Given the description of an element on the screen output the (x, y) to click on. 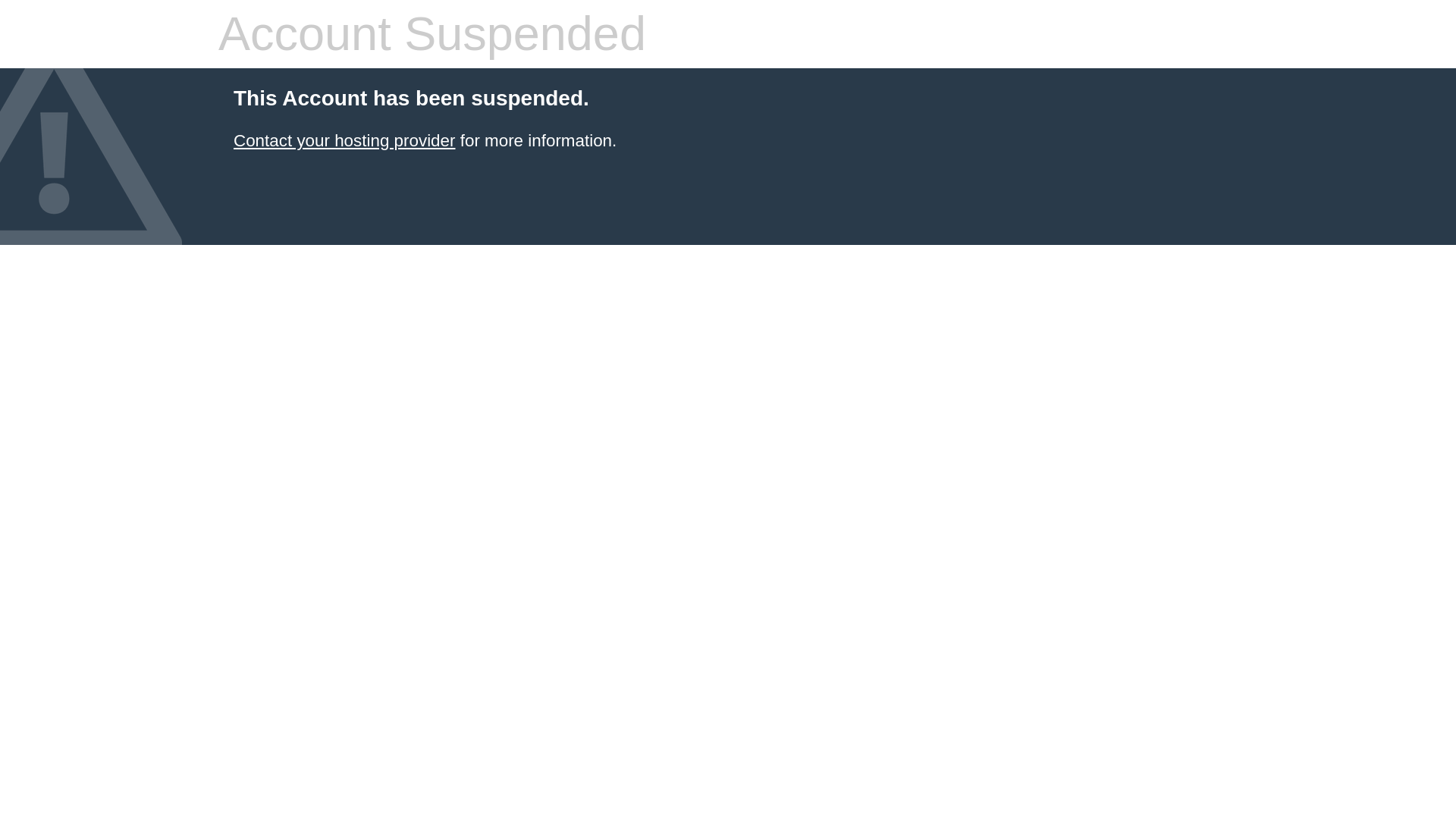
Contact your hosting provider (343, 140)
